Given the description of an element on the screen output the (x, y) to click on. 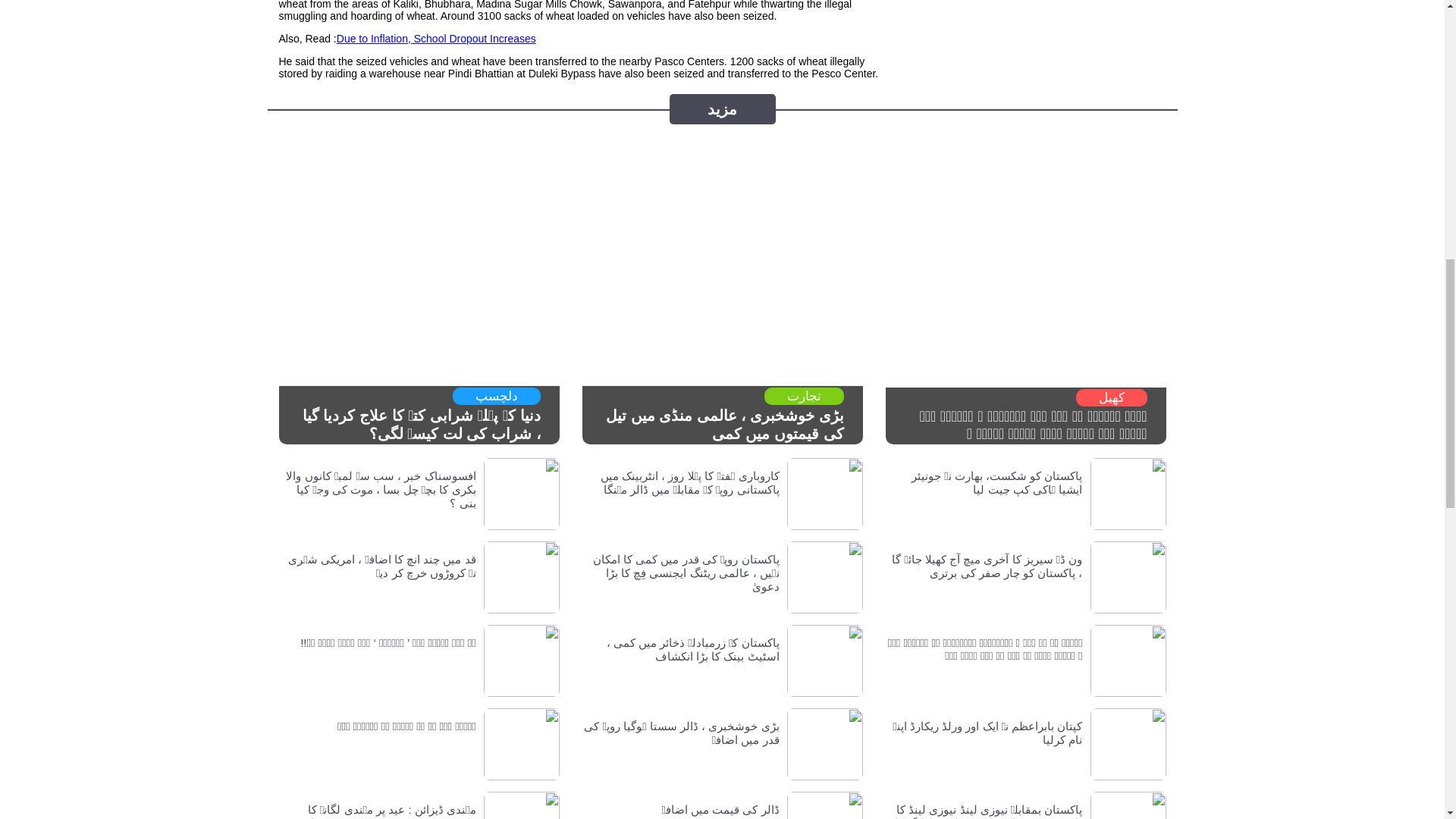
Due to Inflation, School Dropout Increases (435, 38)
